Given the description of an element on the screen output the (x, y) to click on. 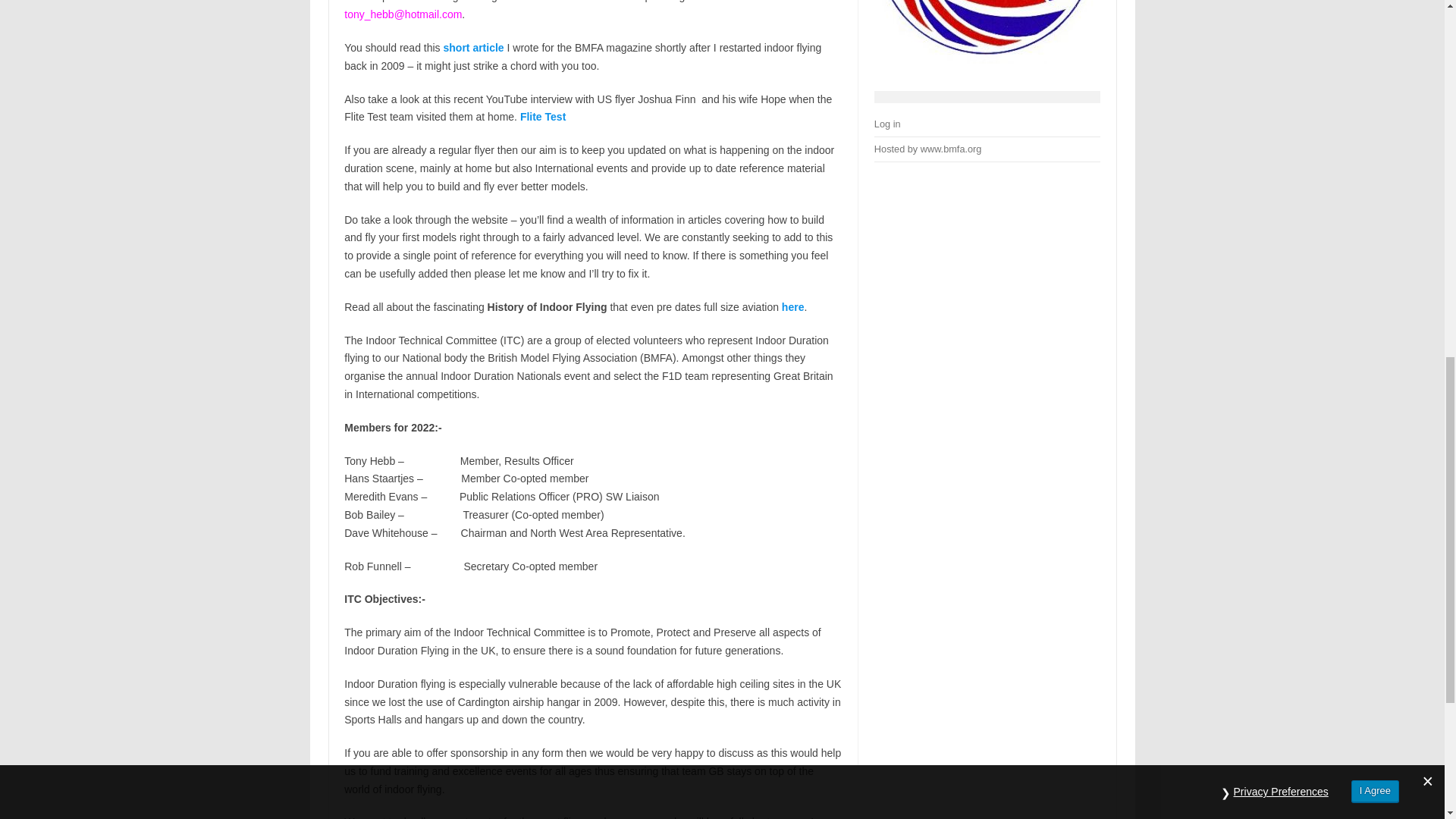
short article (472, 47)
here (793, 306)
Flite Test (542, 116)
